Given the description of an element on the screen output the (x, y) to click on. 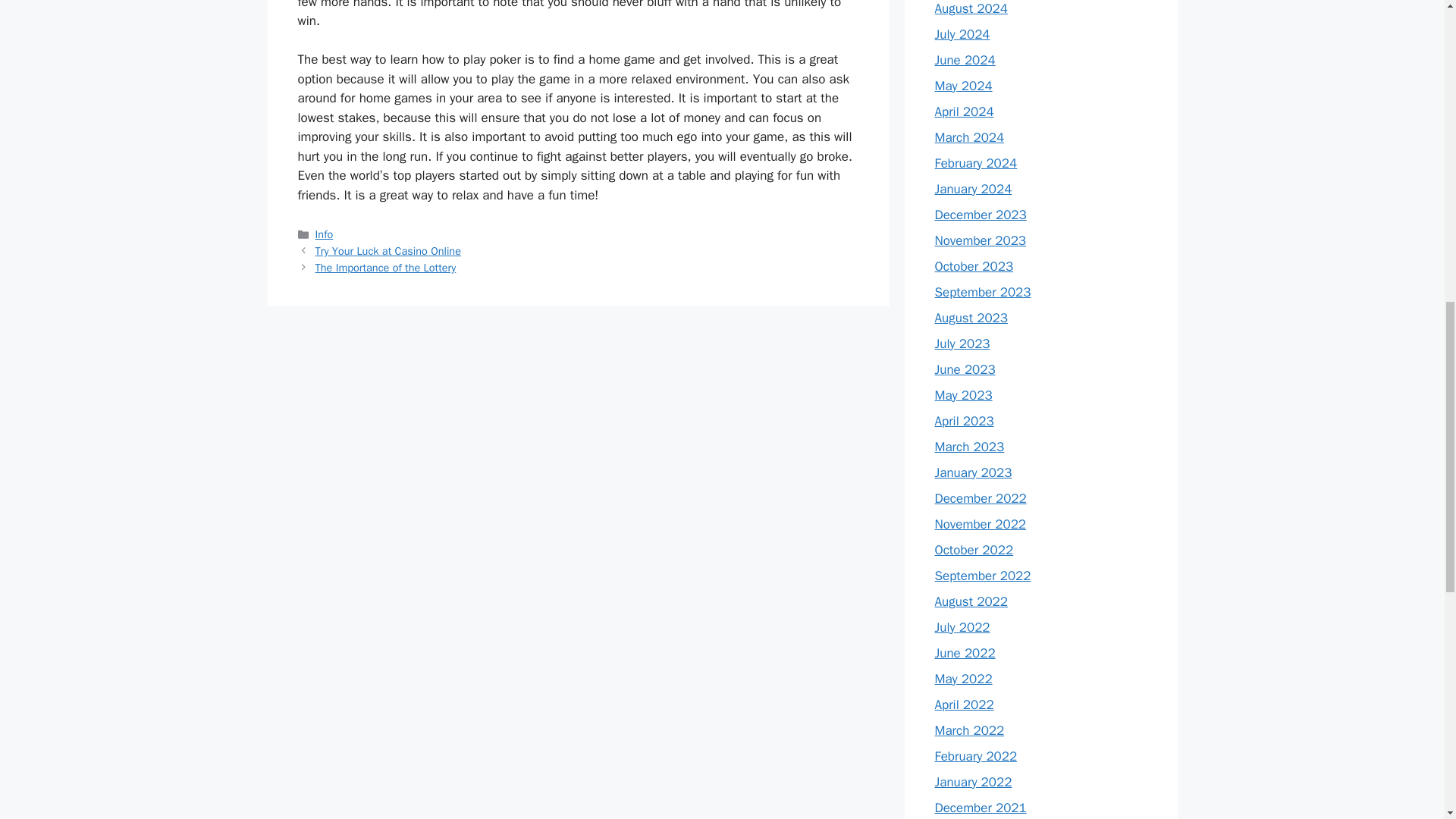
December 2023 (980, 213)
August 2024 (970, 7)
May 2024 (962, 84)
January 2024 (972, 188)
August 2023 (970, 317)
July 2024 (962, 33)
June 2024 (964, 59)
Info (324, 233)
August 2022 (970, 600)
March 2024 (969, 136)
